Given the description of an element on the screen output the (x, y) to click on. 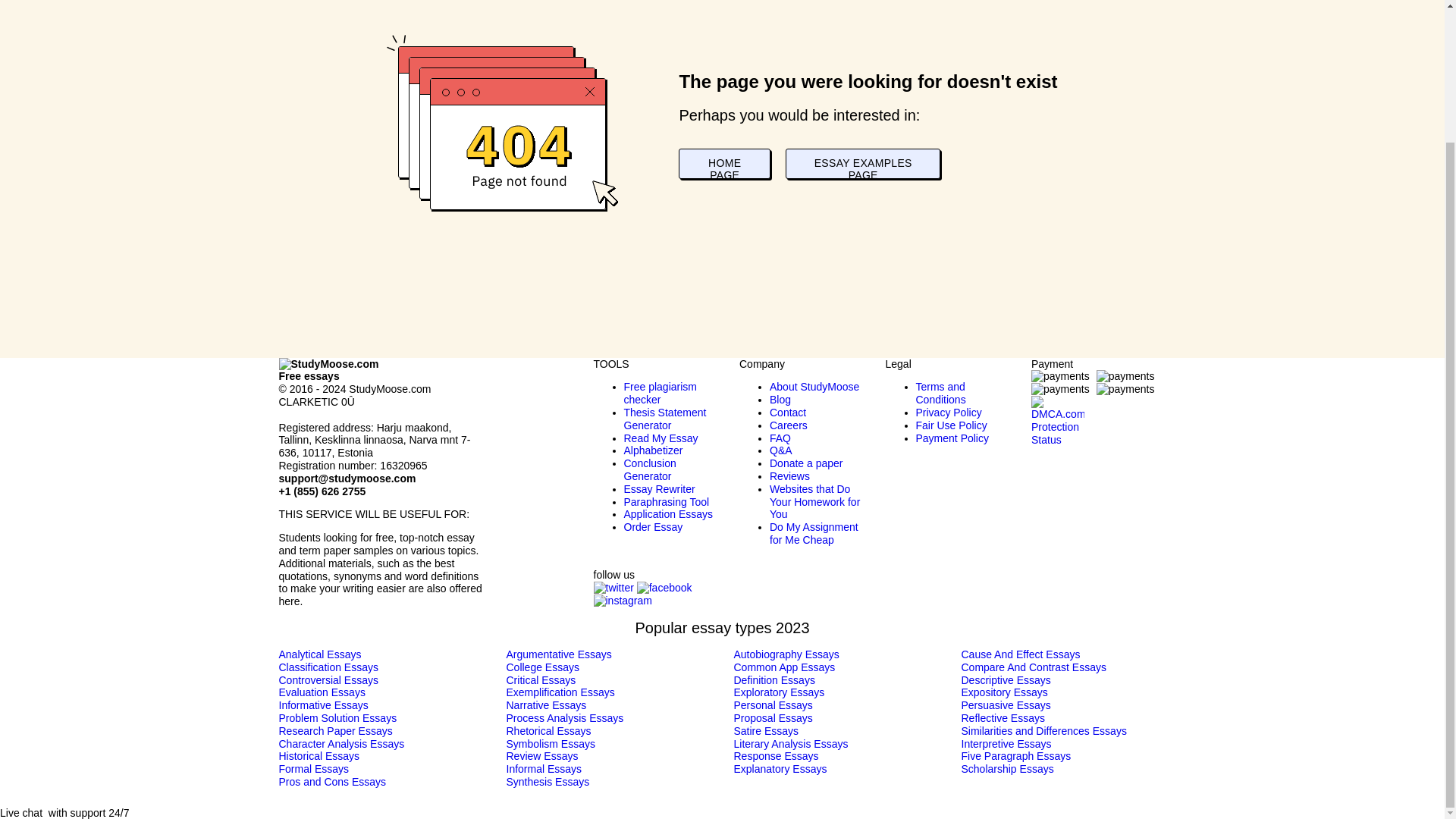
Contact (788, 412)
Read My Essay (660, 438)
ESSAY EXAMPLES PAGE (863, 163)
Essay Rewriter (658, 489)
HOME PAGE (724, 163)
Careers (789, 425)
DMCA.com Protection Status (1057, 409)
Websites that Do Your Homework for You (815, 501)
Free plagiarism checker (659, 392)
Alphabetizer (652, 450)
